Given the description of an element on the screen output the (x, y) to click on. 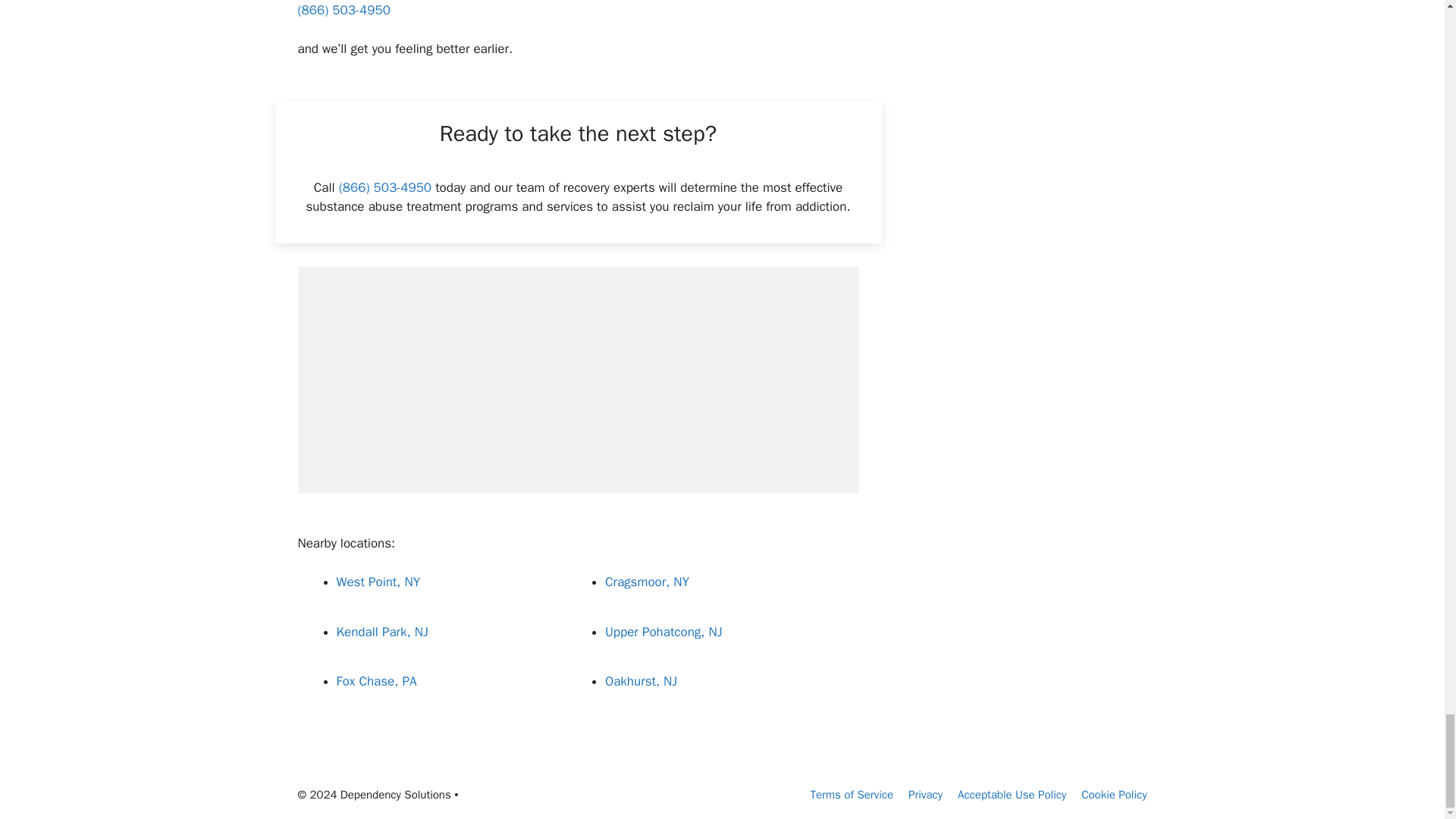
Acceptable Use Policy (1011, 794)
Upper Pohatcong, NJ (663, 631)
Cookie Policy (1114, 794)
Cragsmoor, NY (646, 581)
West Point, NY (378, 581)
Terms of Service (851, 794)
Fox Chase, PA (376, 681)
Kendall Park, NJ (382, 631)
West Point, NY (378, 581)
Privacy (925, 794)
